Given the description of an element on the screen output the (x, y) to click on. 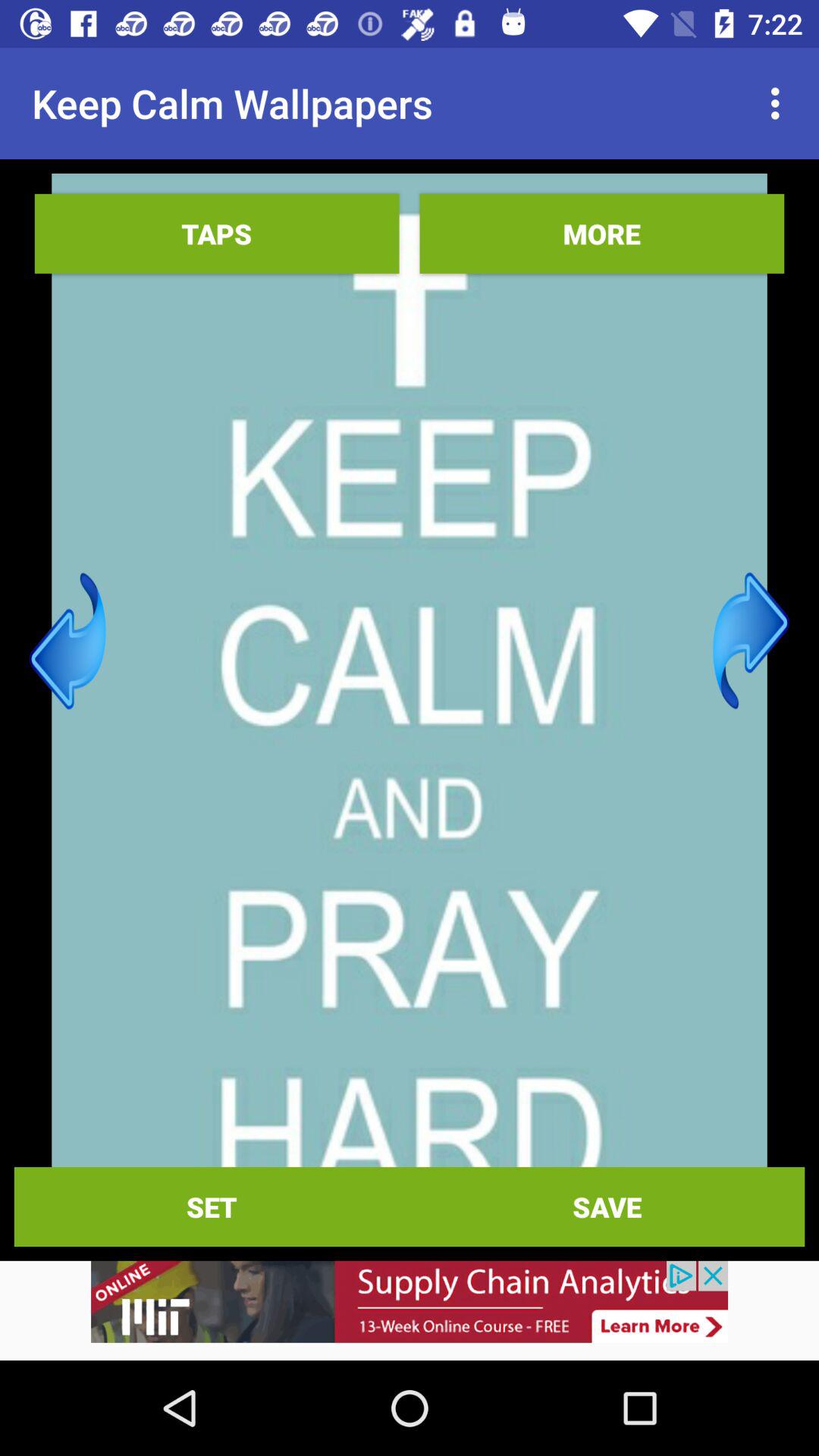
go back (68, 640)
